Given the description of an element on the screen output the (x, y) to click on. 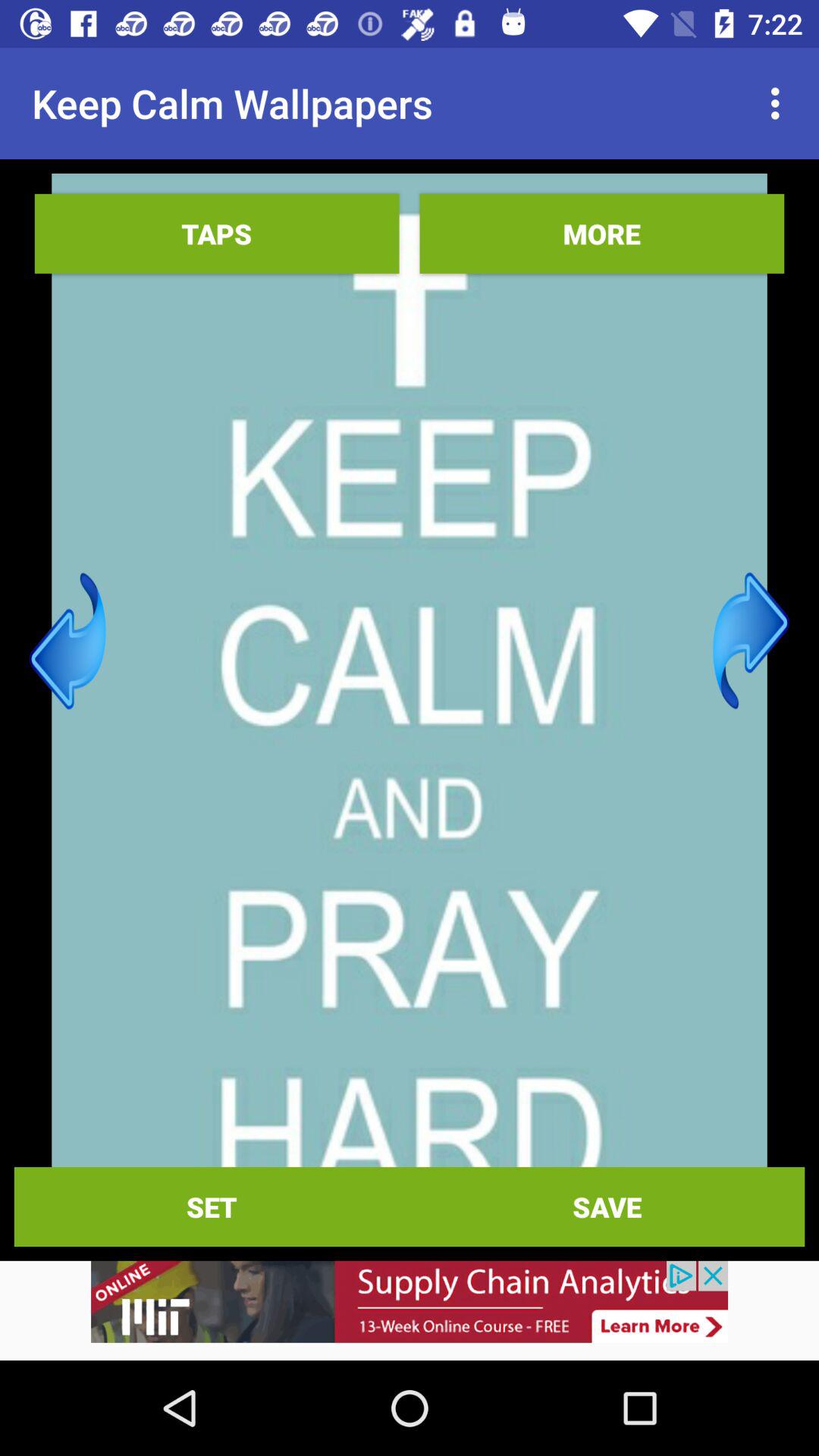
go back (68, 640)
